Given the description of an element on the screen output the (x, y) to click on. 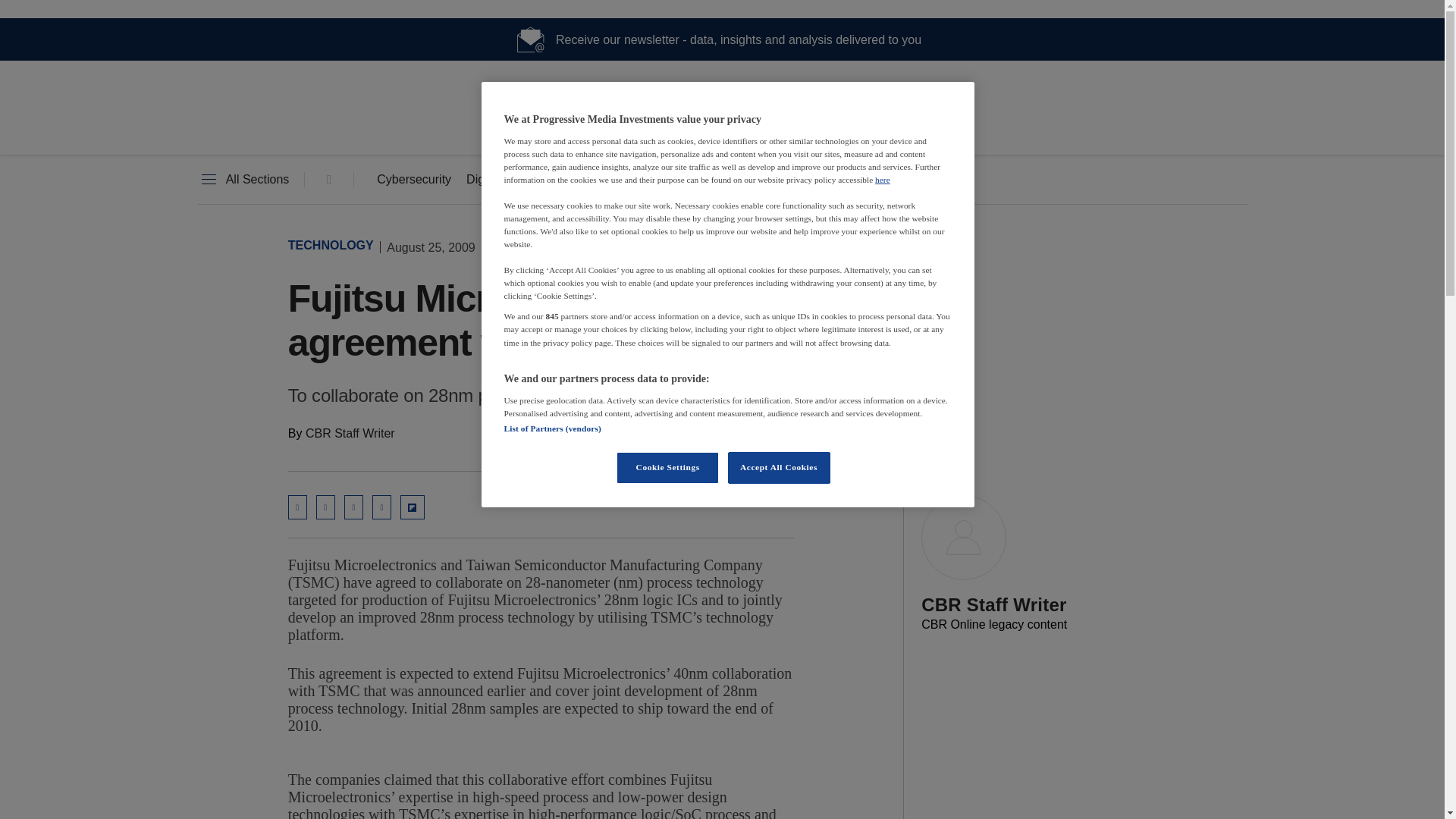
All Sections (242, 179)
Leadership (701, 179)
Tech Monitor (722, 128)
Events (783, 179)
Hardware (612, 179)
Cybersecurity (414, 179)
Share on Flipboard (412, 507)
Digital economy (509, 179)
